Given the description of an element on the screen output the (x, y) to click on. 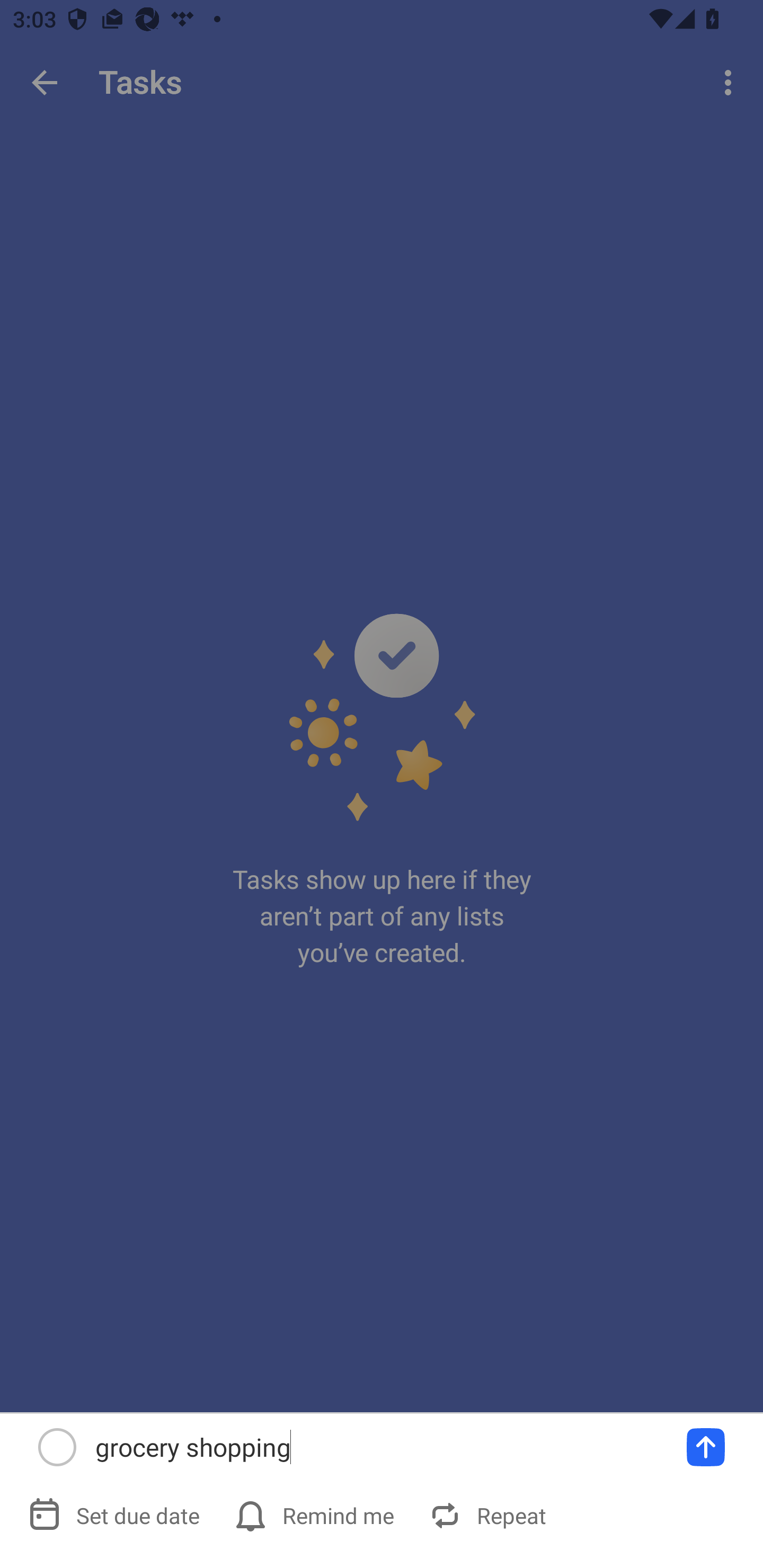
Remind me (315, 1515)
